Given the description of an element on the screen output the (x, y) to click on. 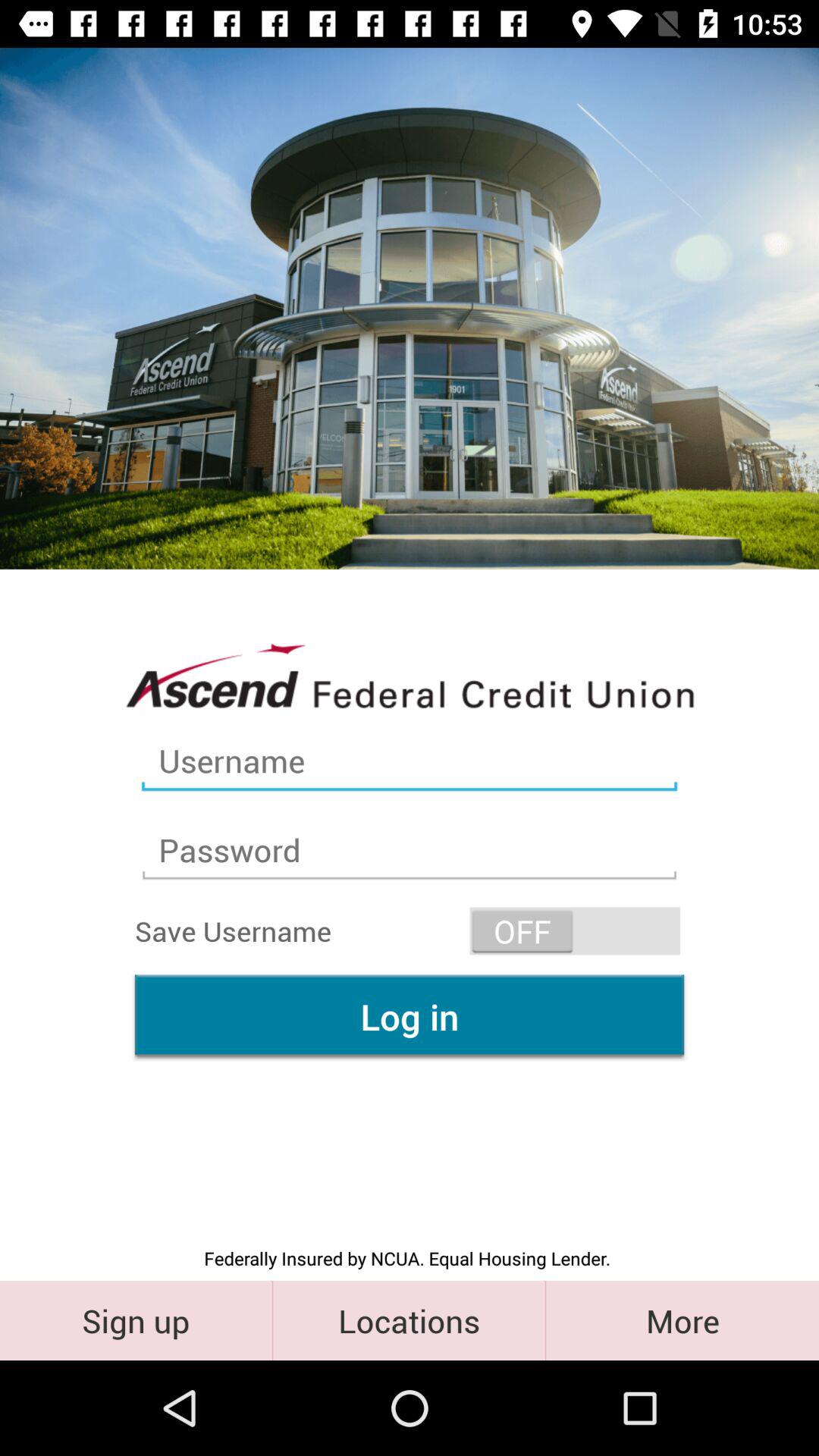
scroll to the locations icon (409, 1320)
